Given the description of an element on the screen output the (x, y) to click on. 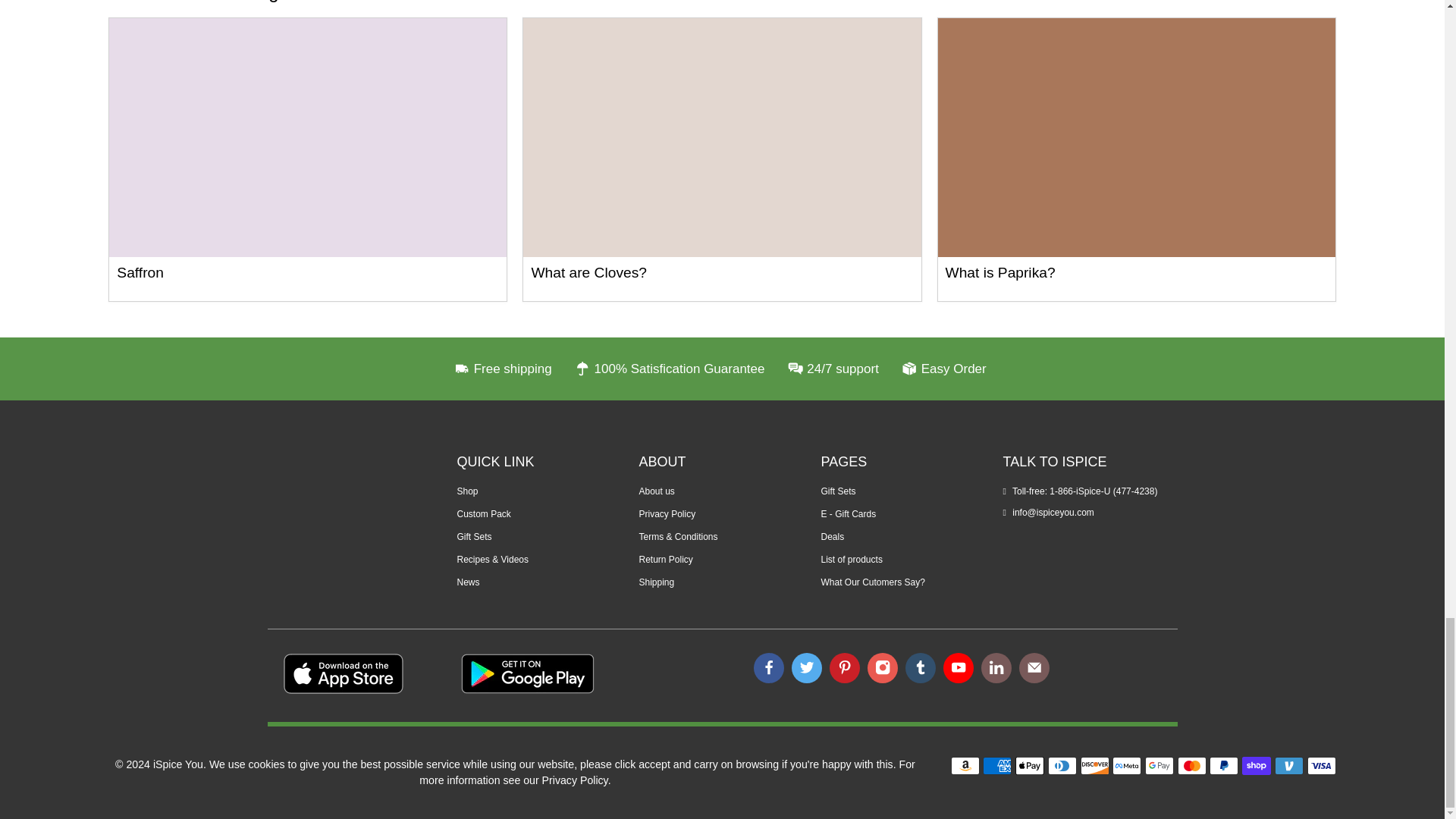
Saffron (139, 272)
iSpice You (341, 501)
What is Paprika? (1136, 137)
What is Paprika? (999, 272)
What are Cloves? (588, 272)
Saffron (307, 137)
iSpice You on Facebook (769, 667)
What are Cloves? (721, 137)
